Given the description of an element on the screen output the (x, y) to click on. 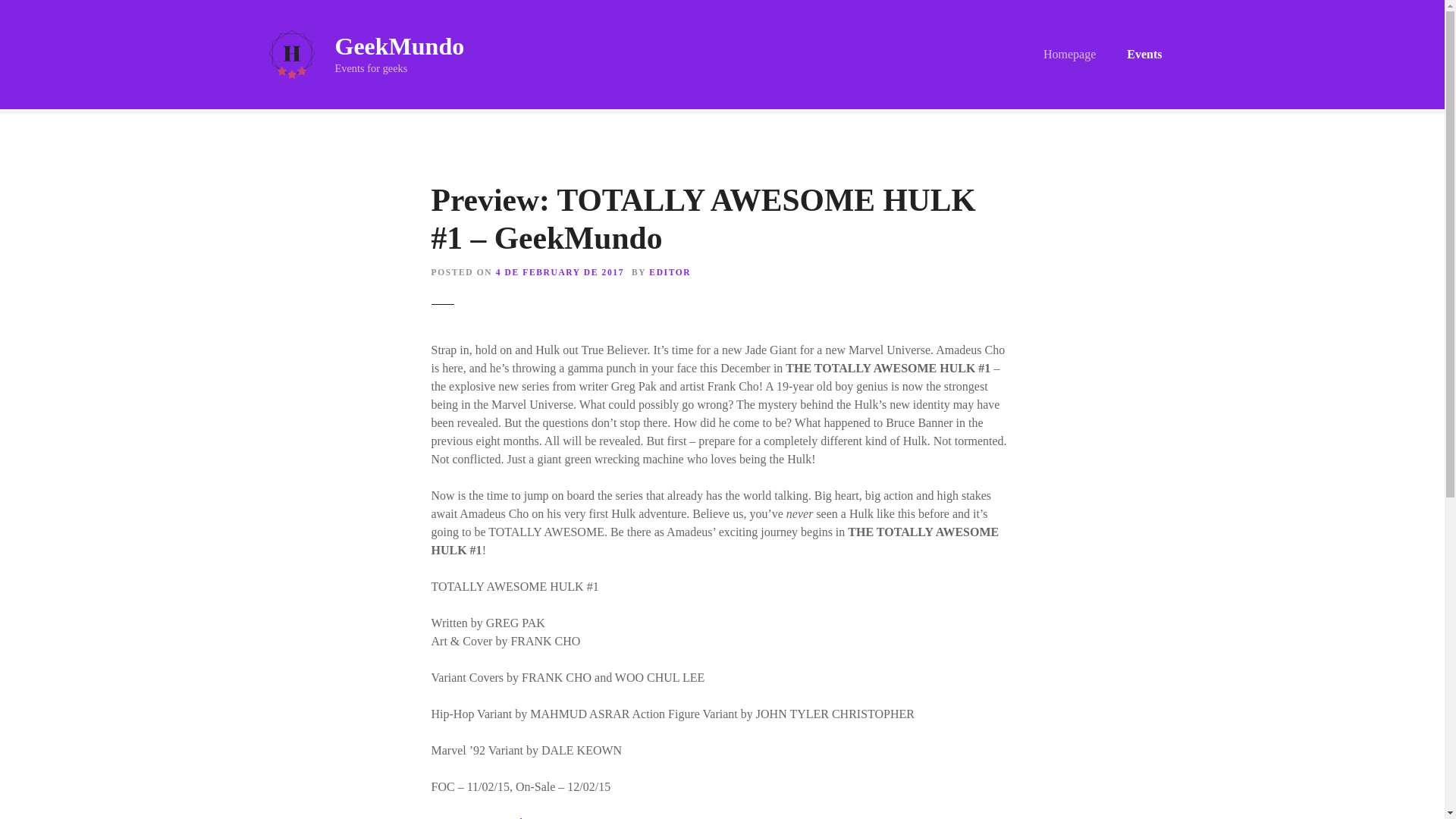
Marvel Comics (523, 817)
Homepage (1068, 54)
GeekMundo (399, 45)
Events (1144, 54)
EDITOR (669, 271)
4 DE FEBRUARY DE 2017 (560, 271)
